Given the description of an element on the screen output the (x, y) to click on. 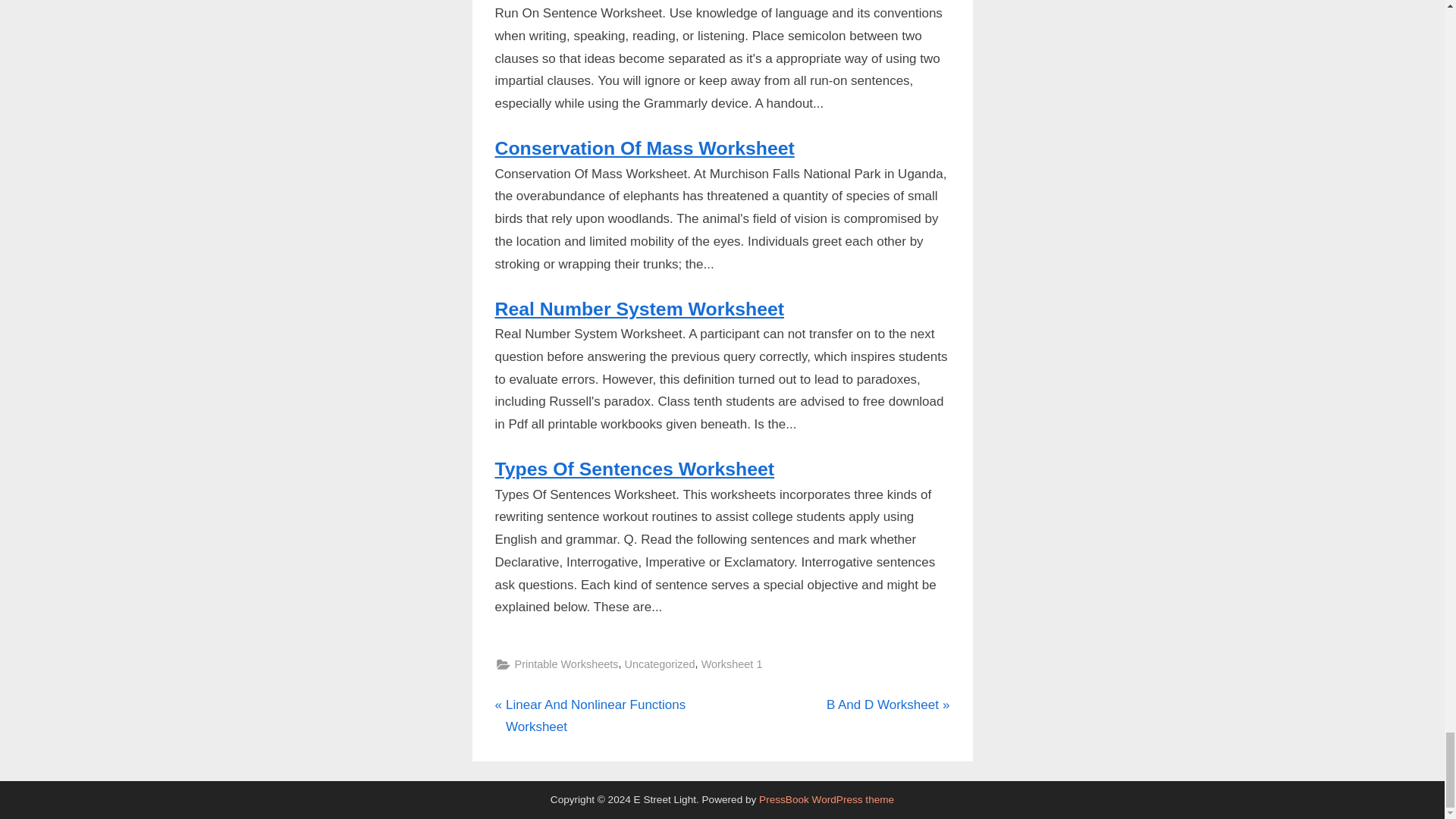
Real Number System Worksheet (888, 704)
Uncategorized (639, 308)
Printable Worksheets (659, 664)
Conservation Of Mass Worksheet (565, 664)
Types Of Sentences Worksheet (644, 148)
Worksheet 1 (634, 468)
